Given the description of an element on the screen output the (x, y) to click on. 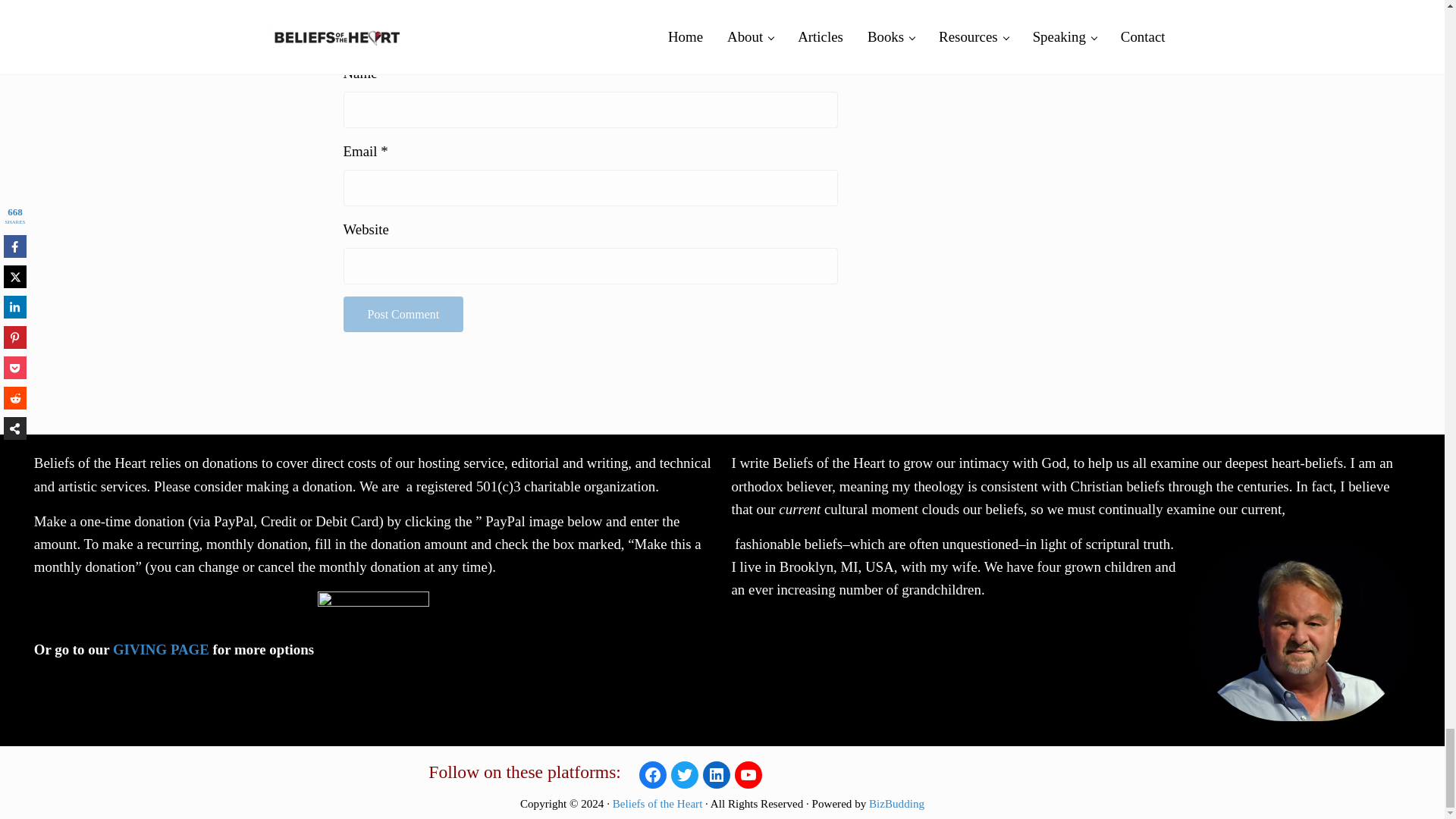
Post Comment (402, 313)
